Given the description of an element on the screen output the (x, y) to click on. 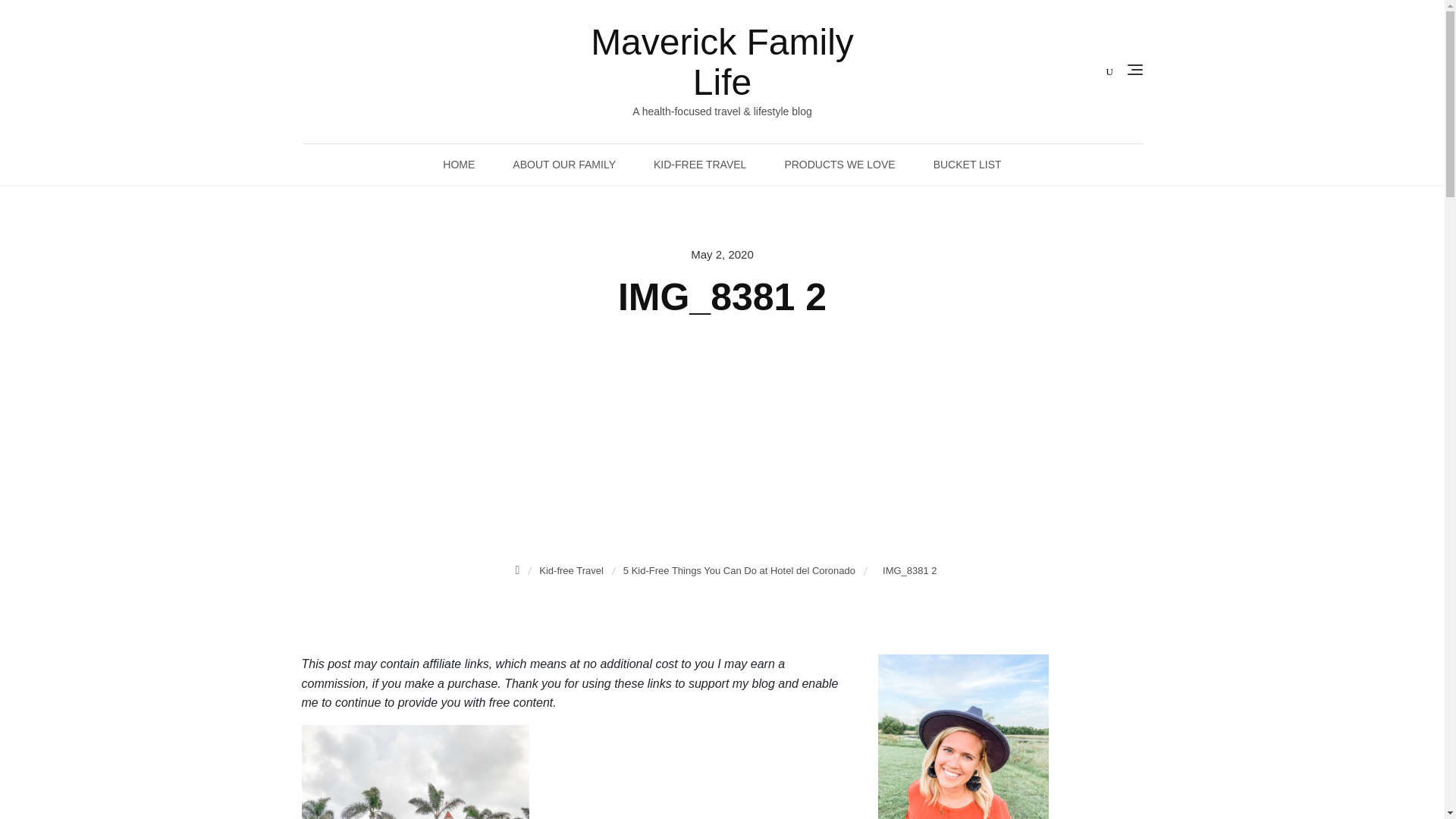
Search (42, 18)
HOME (458, 164)
KID-FREE TRAVEL (699, 164)
Home (517, 570)
Search (29, 22)
May 2, 2020 (722, 254)
Search (85, 19)
5 Kid-Free Things You Can Do at Hotel del Coronado (740, 570)
ABOUT OUR FAMILY (563, 164)
BUCKET LIST (967, 164)
PRODUCTS WE LOVE (839, 164)
Maverick Family Life (722, 62)
Kid-free Travel (572, 570)
